Given the description of an element on the screen output the (x, y) to click on. 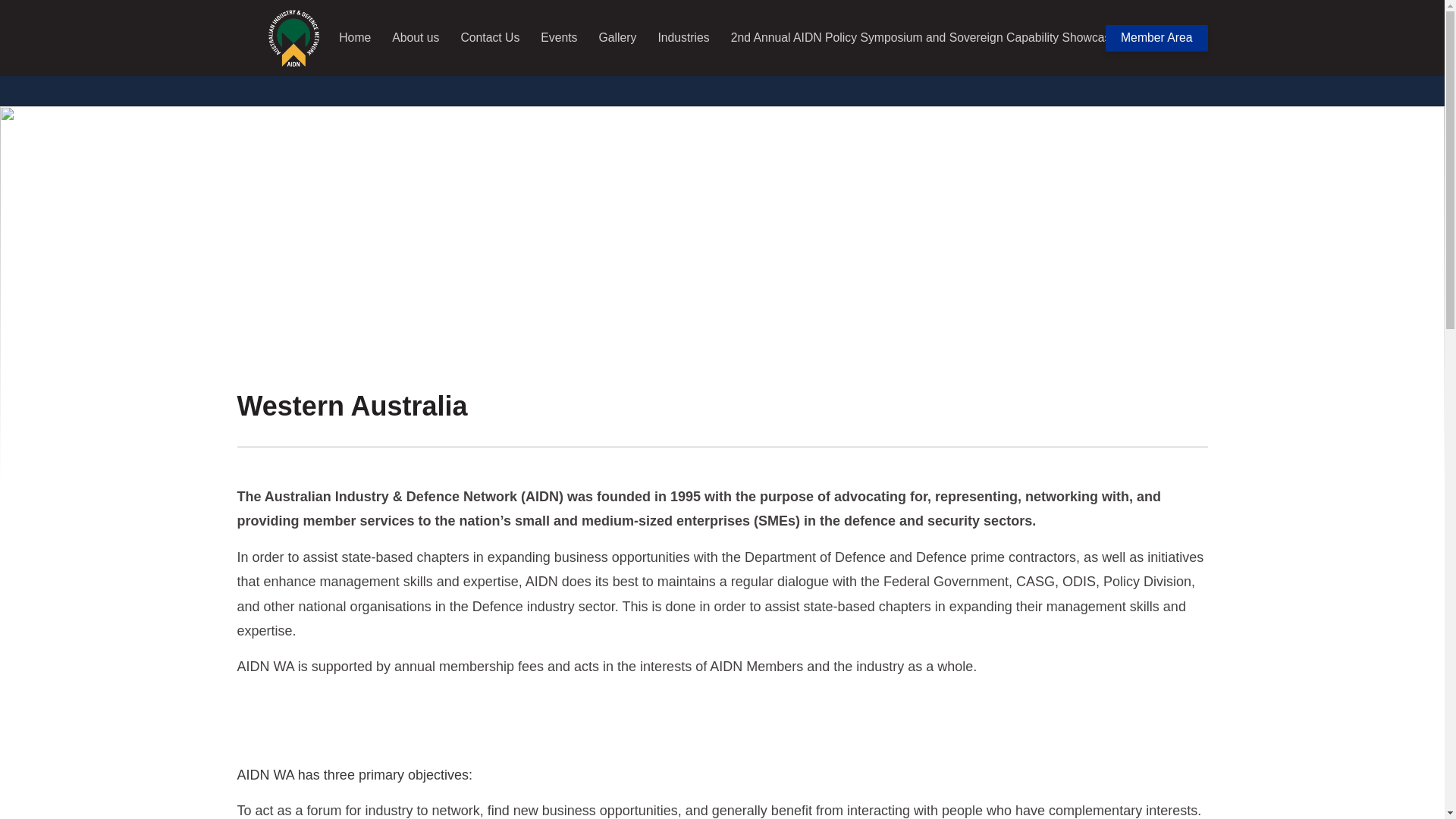
Contact Us Element type: text (489, 37)
Industries Element type: text (683, 37)
About us Element type: text (415, 37)
Events Element type: text (558, 37)
Home Element type: text (354, 37)
Member Area Element type: text (1156, 38)
Gallery Element type: text (618, 37)
